Given the description of an element on the screen output the (x, y) to click on. 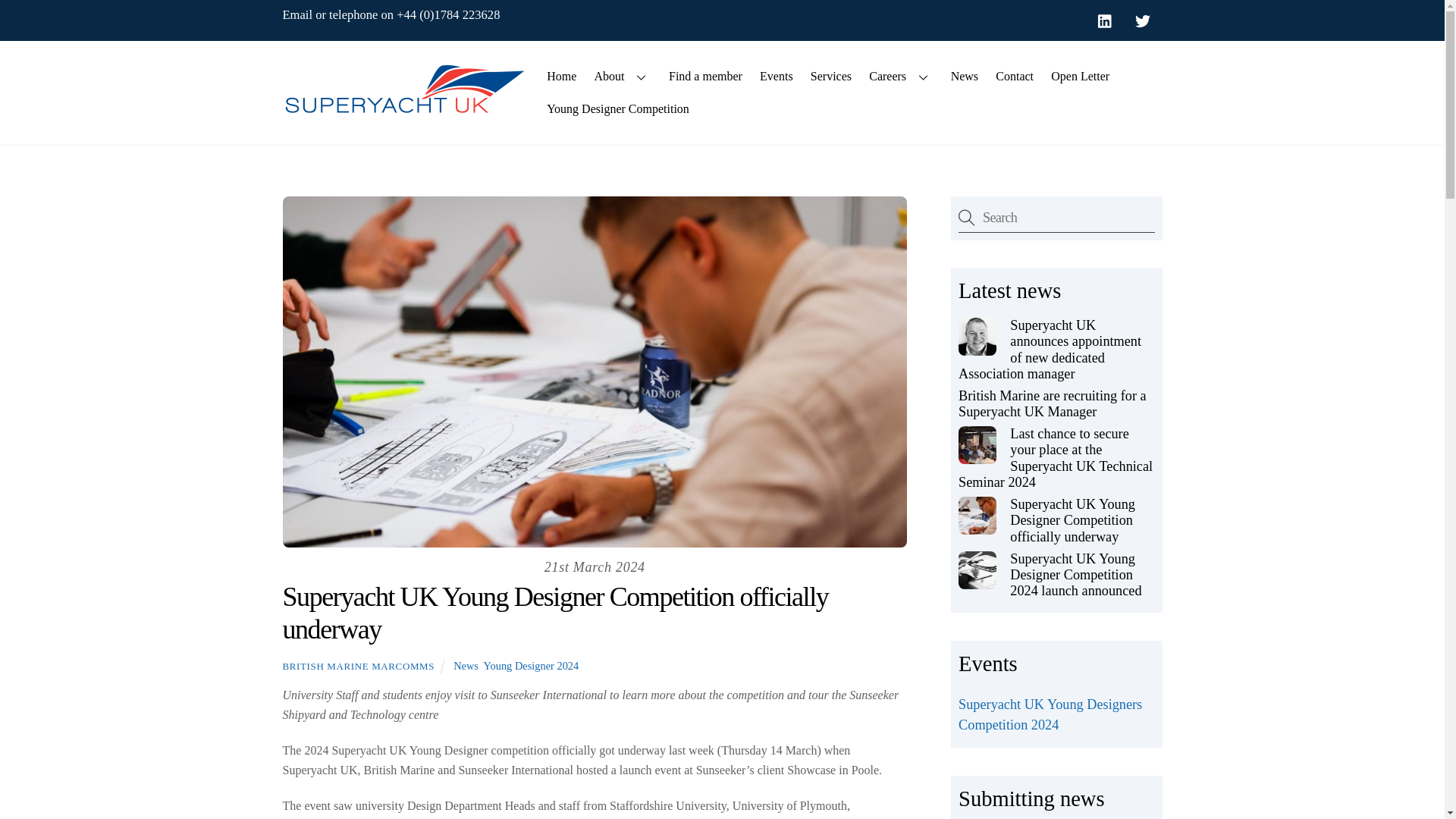
Young Designer 2024 (531, 665)
SYUK tech seminar (976, 444)
Search (1056, 216)
Home (561, 75)
Young Designer Competition (618, 108)
Superyacht UK (403, 109)
About (622, 75)
superyacht-uk-young-designer-2024 (976, 569)
Events (775, 75)
Find a member (705, 75)
